Given the description of an element on the screen output the (x, y) to click on. 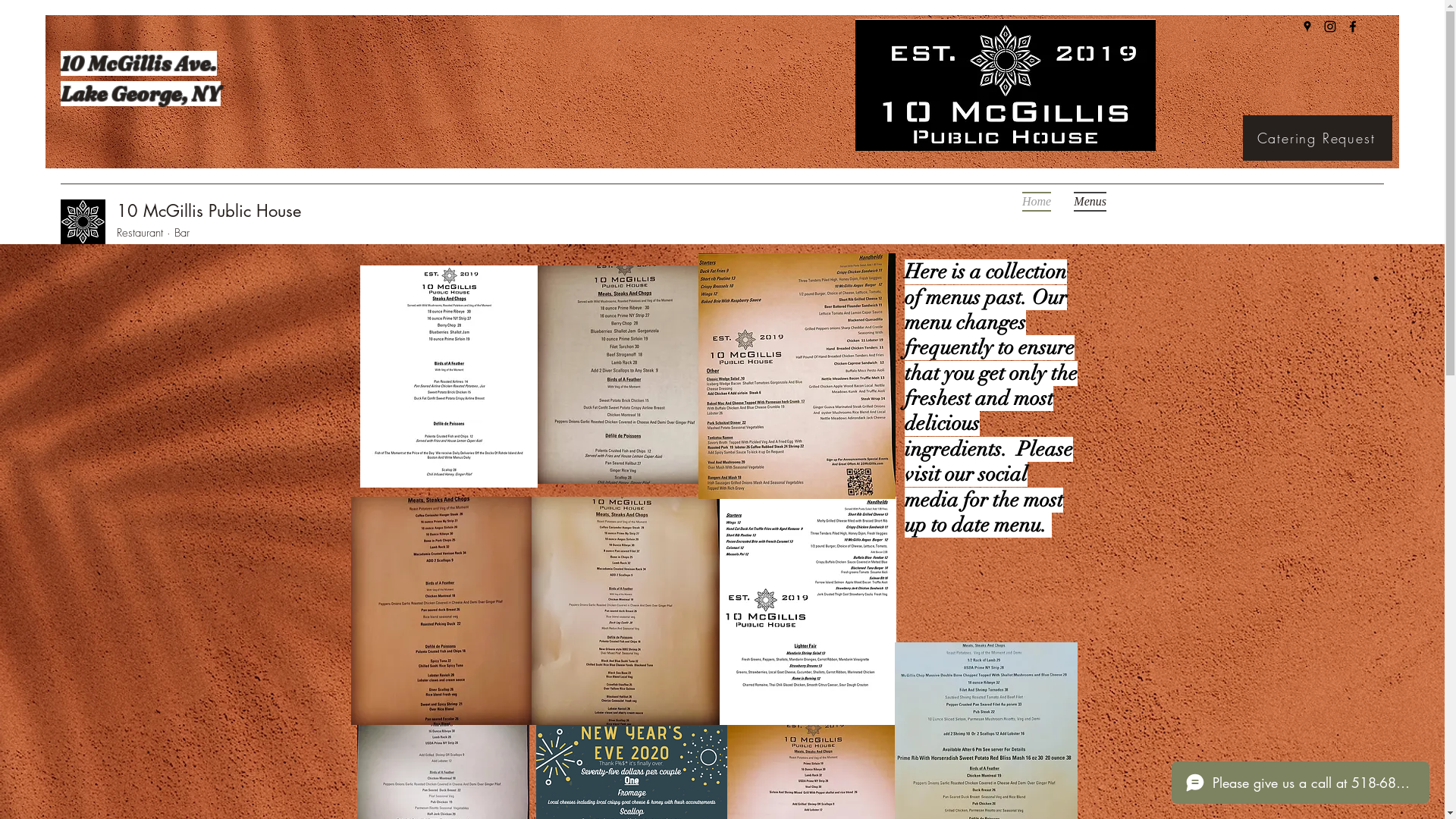
Home Element type: text (1036, 201)
full menu final 2.jpg Element type: hover (447, 376)
36872C6E-2A18-4EC8-B864-2E707839D69A.jpg Element type: hover (624, 610)
Menus Element type: text (1084, 201)
10 McGillis Public House Element type: text (208, 210)
4371B2DB-BCFD-4169-8D68-DE25A5695AD0.jpg Element type: hover (804, 372)
Menus Element type: hover (1328, 557)
Catering Request Element type: text (1317, 137)
full menu final.jpg Element type: hover (805, 610)
29F36E54-39DE-434E-8A06-9EF9B9F9D3D7.jpg Element type: hover (443, 610)
A35A03A4-5E3B-49AB-929F-A148F6B7578A.jpg Element type: hover (625, 374)
